Given the description of an element on the screen output the (x, y) to click on. 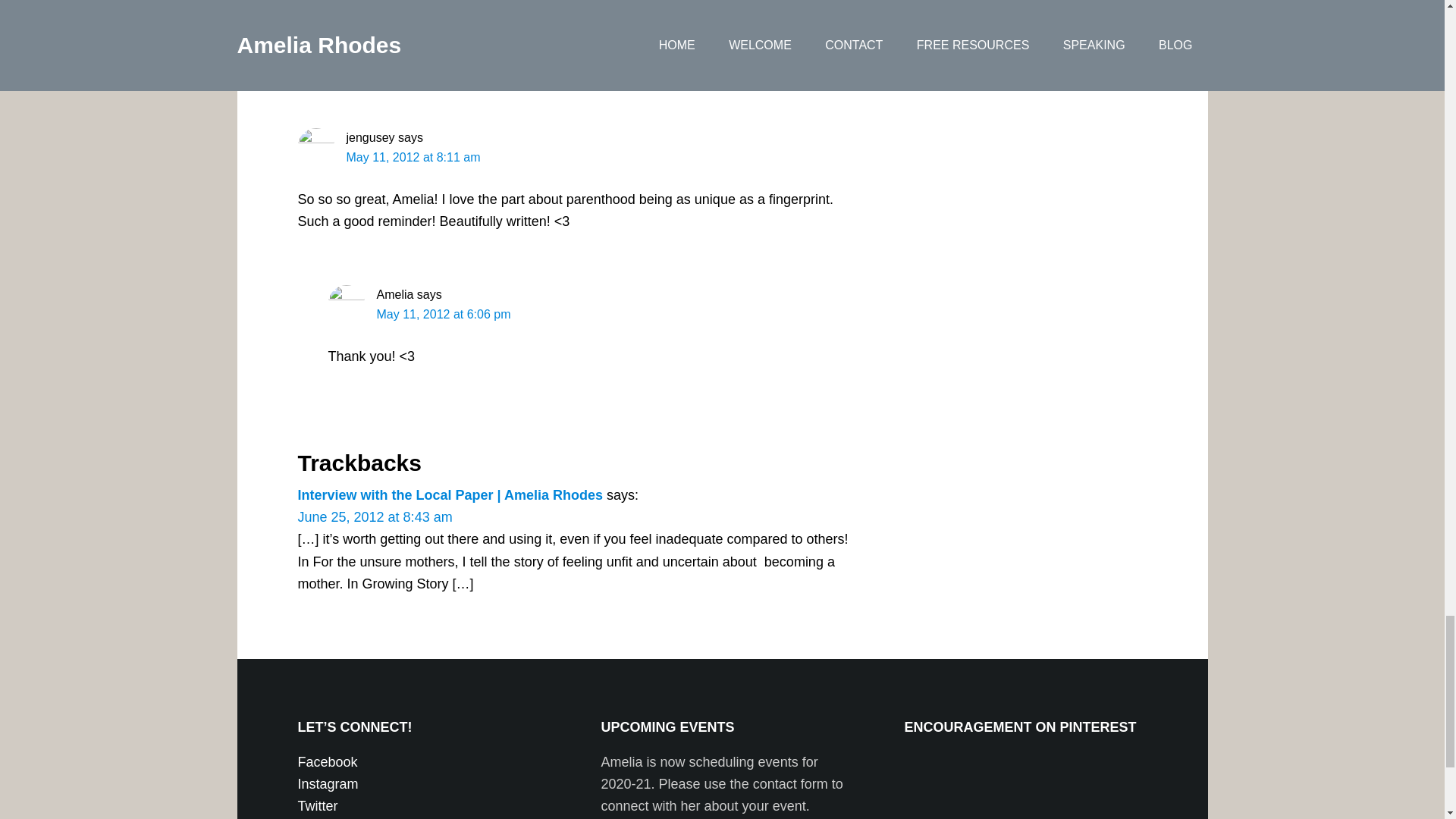
May 11, 2012 at 7:59 am (443, 22)
May 11, 2012 at 8:11 am (413, 156)
May 11, 2012 at 6:06 pm (443, 314)
June 25, 2012 at 8:43 am (374, 516)
